Given the description of an element on the screen output the (x, y) to click on. 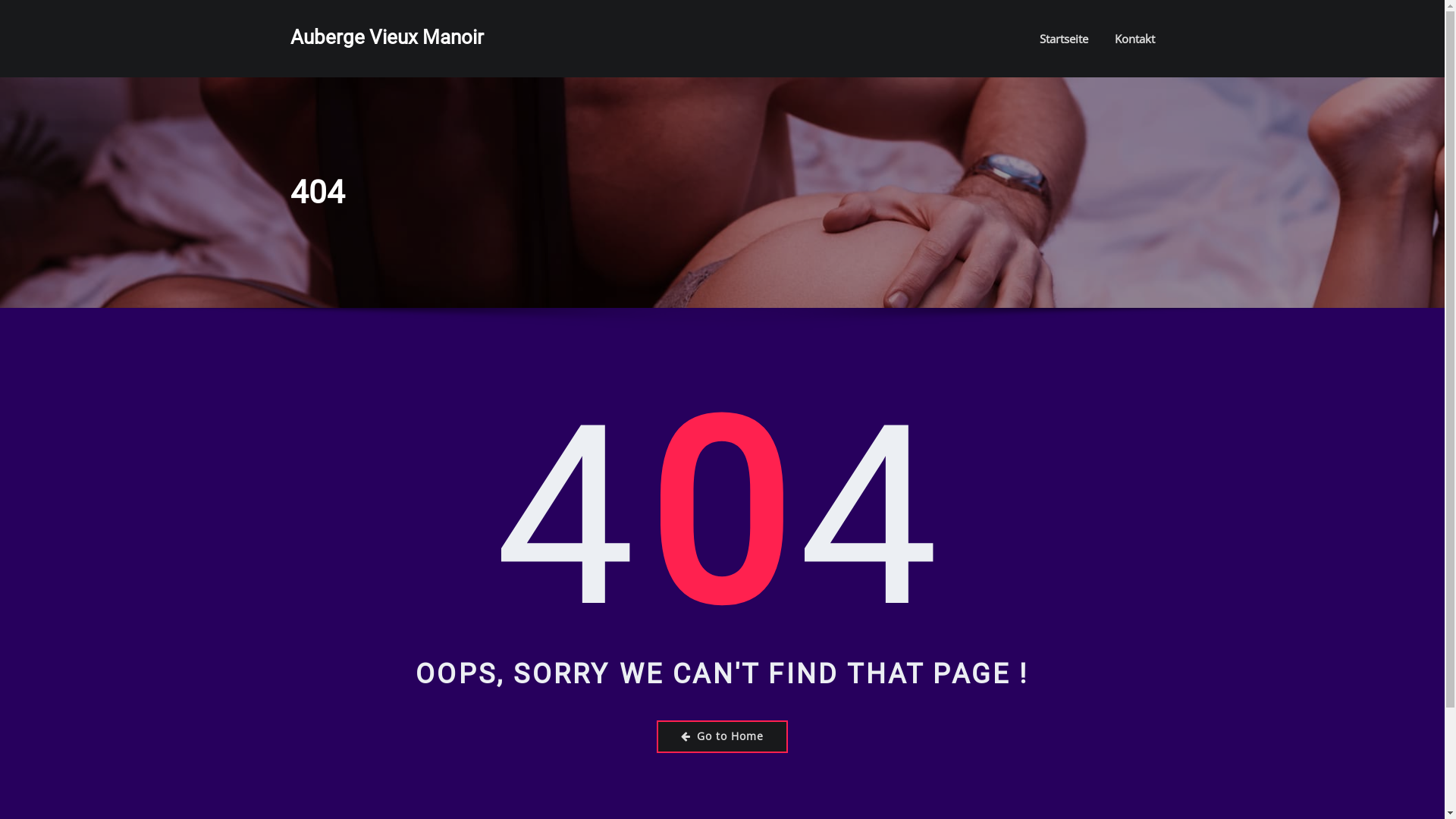
Startseite Element type: text (1062, 38)
Auberge Vieux Manoir Element type: text (386, 36)
Go to Home Element type: text (721, 736)
Kontakt Element type: text (1134, 38)
